Given the description of an element on the screen output the (x, y) to click on. 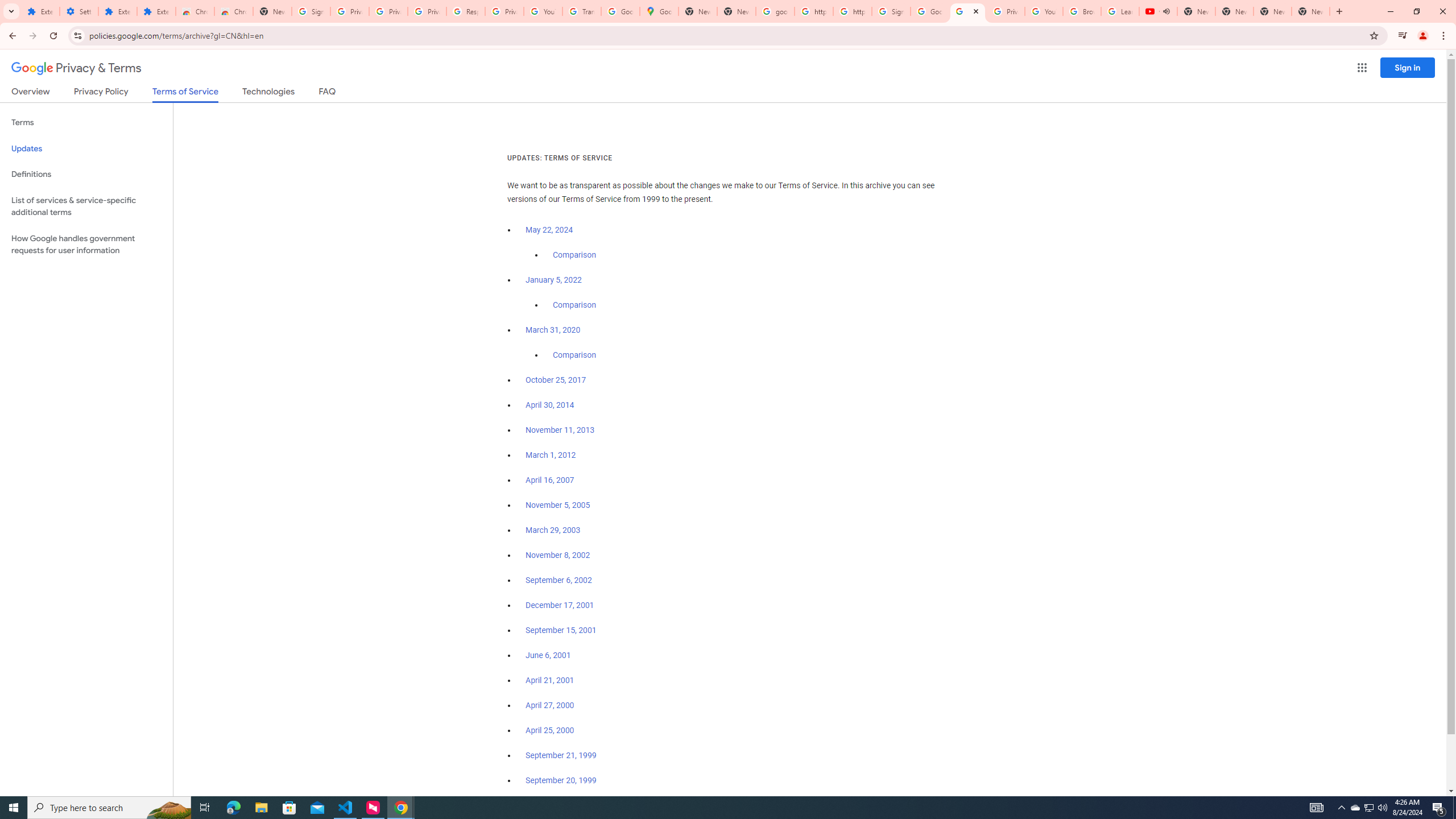
April 27, 2000 (550, 705)
September 20, 1999 (560, 780)
Google Maps (659, 11)
April 16, 2007 (550, 480)
